Given the description of an element on the screen output the (x, y) to click on. 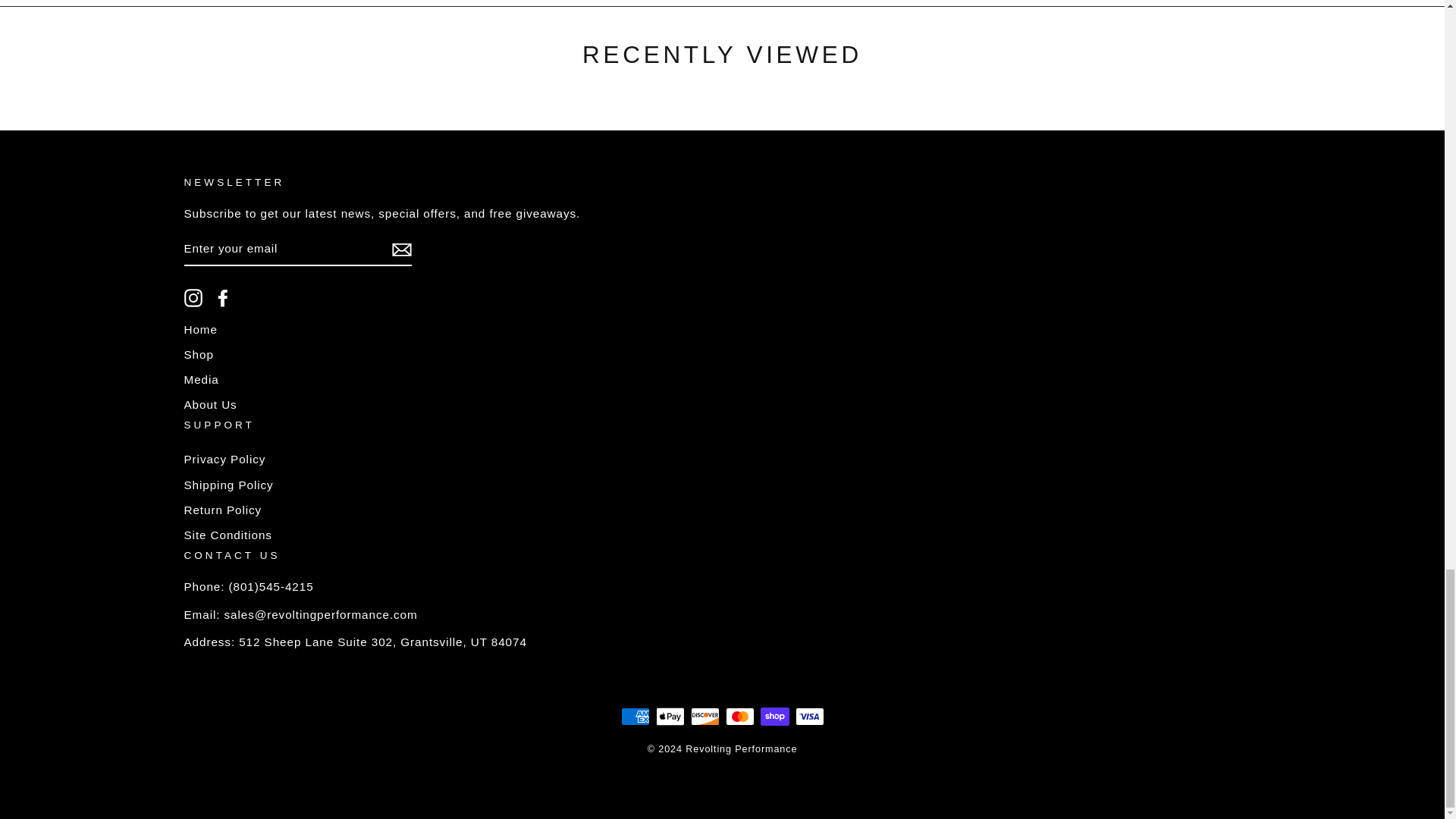
American Express (634, 716)
Visa (809, 716)
Shop Pay (774, 716)
Revolting Performance on Instagram (192, 298)
Mastercard (739, 716)
Discover (704, 716)
Revolting Performance on Facebook (222, 298)
Apple Pay (669, 716)
